Given the description of an element on the screen output the (x, y) to click on. 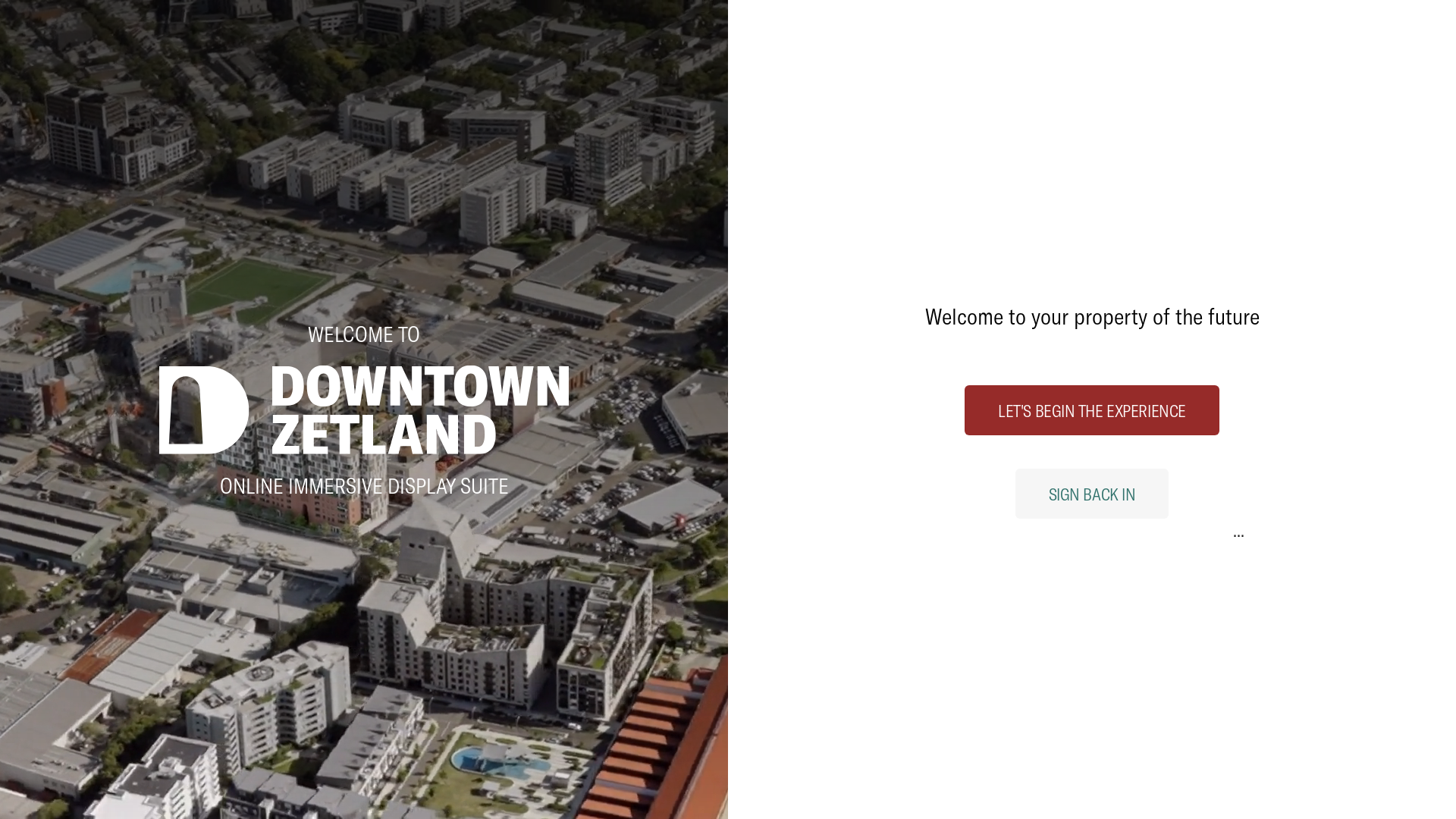
... Element type: text (1238, 529)
SIGN BACK IN Element type: text (1092, 493)
LET'S BEGIN THE EXPERIENCE Element type: text (1091, 410)
